Given the description of an element on the screen output the (x, y) to click on. 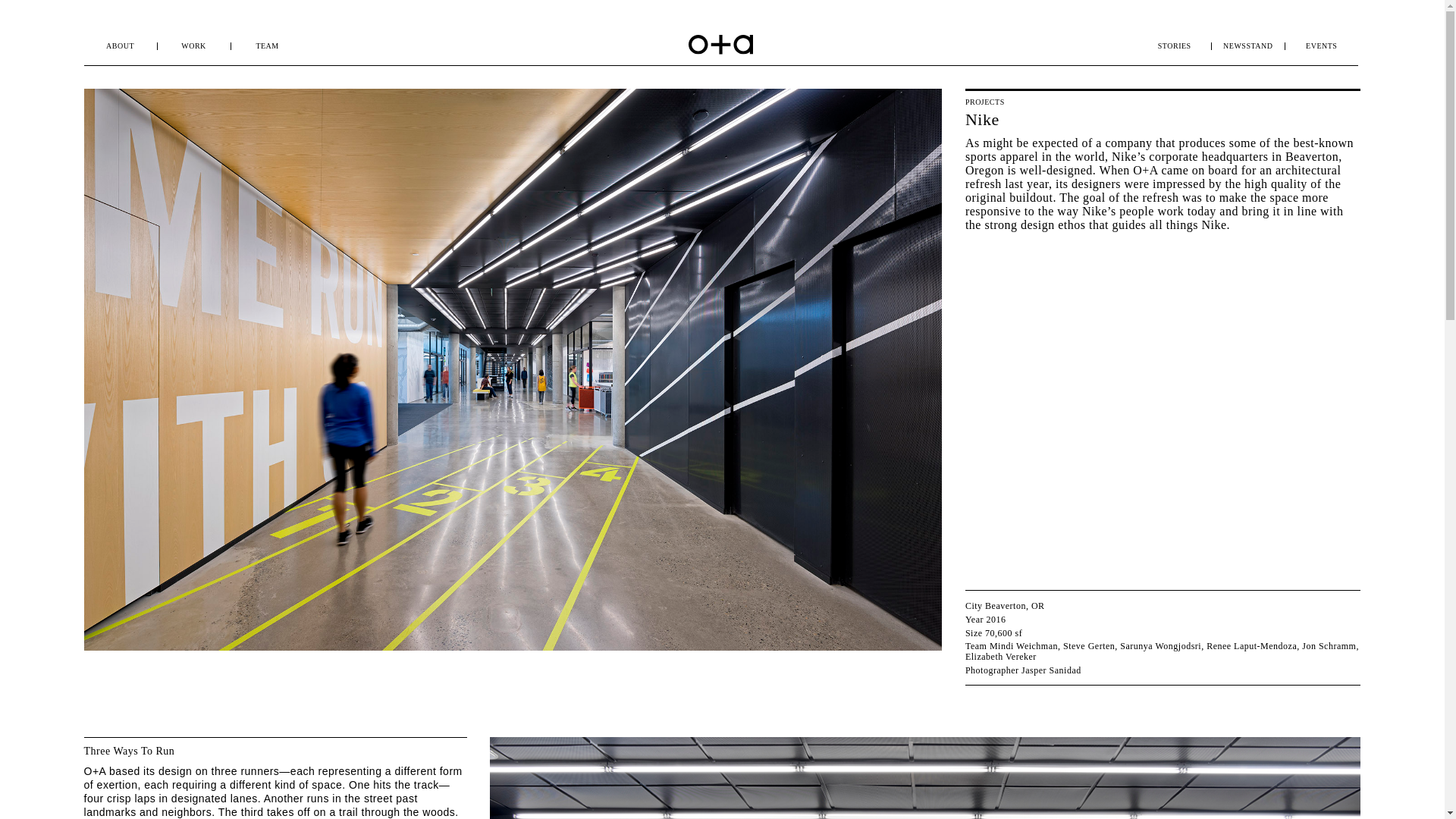
WORK (193, 45)
EVENTS (1321, 45)
ABOUT (119, 45)
NEWSSTAND (1247, 45)
TEAM (267, 45)
STORIES (1174, 45)
